Given the description of an element on the screen output the (x, y) to click on. 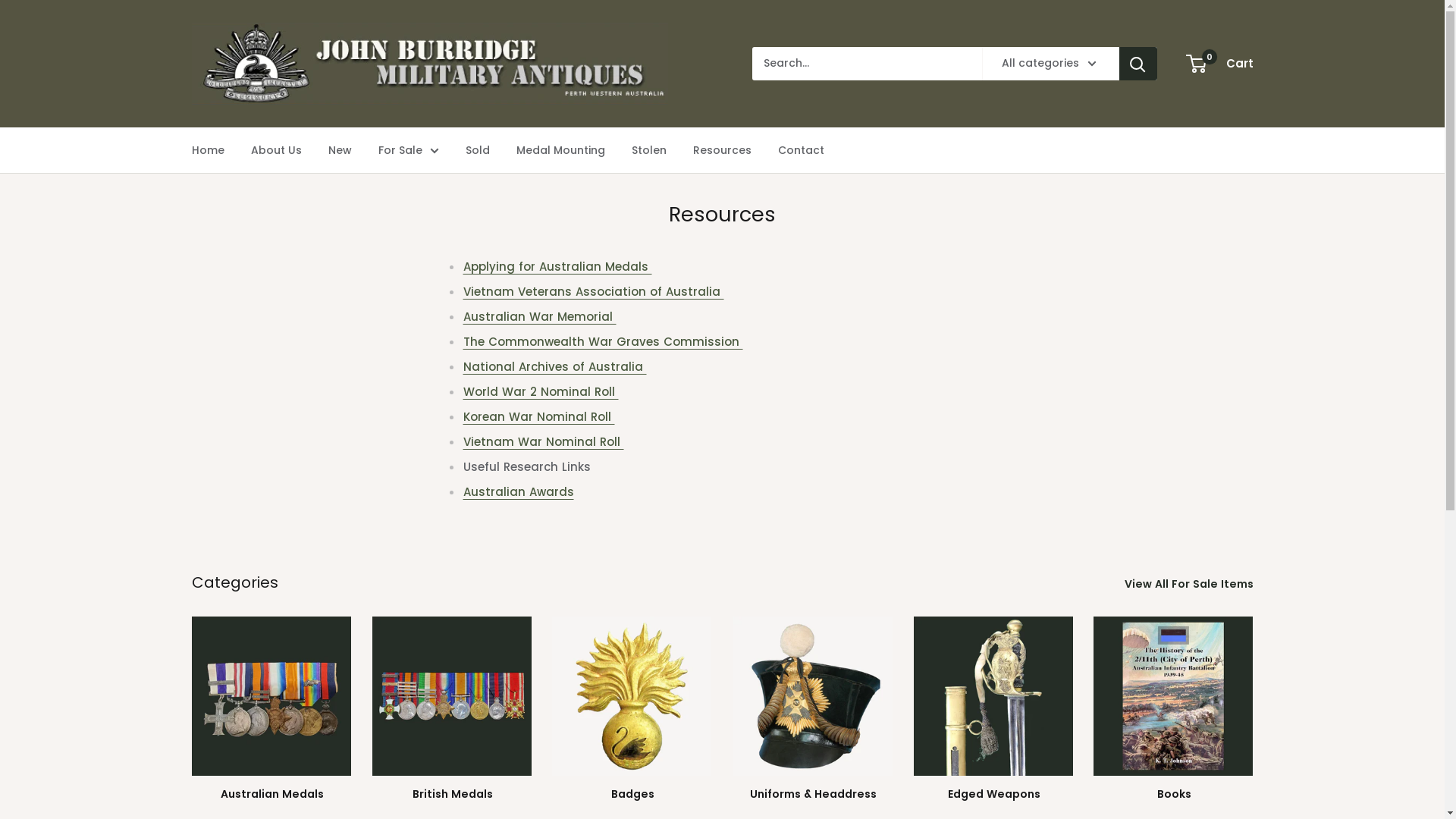
0
Cart Element type: text (1220, 63)
Australian Medals Element type: text (270, 709)
Sold Element type: text (477, 150)
Vietnam Veterans Association of Australia  Element type: text (592, 291)
Vietnam War Nominal Roll  Element type: text (542, 441)
The Commonwealth War Graves Commission  Element type: text (602, 341)
Contact Element type: text (801, 150)
Applying for Australian Medals  Element type: text (556, 266)
Home Element type: text (207, 150)
Medal Mounting Element type: text (559, 150)
Australian Awards Element type: text (517, 491)
New Element type: text (339, 150)
Australian War Memorial  Element type: text (538, 316)
Books Element type: text (1172, 709)
National Archives of Australia  Element type: text (554, 366)
Korean War Nominal Roll  Element type: text (538, 416)
For Sale Element type: text (407, 150)
British Medals Element type: text (451, 709)
Badges Element type: text (631, 709)
Uniforms & Headdress Element type: text (811, 709)
Edged Weapons Element type: text (993, 709)
About Us Element type: text (275, 150)
View All For Sale Items Element type: text (1197, 583)
World War 2 Nominal Roll  Element type: text (540, 391)
Resources Element type: text (722, 150)
Stolen Element type: text (647, 150)
